Given the description of an element on the screen output the (x, y) to click on. 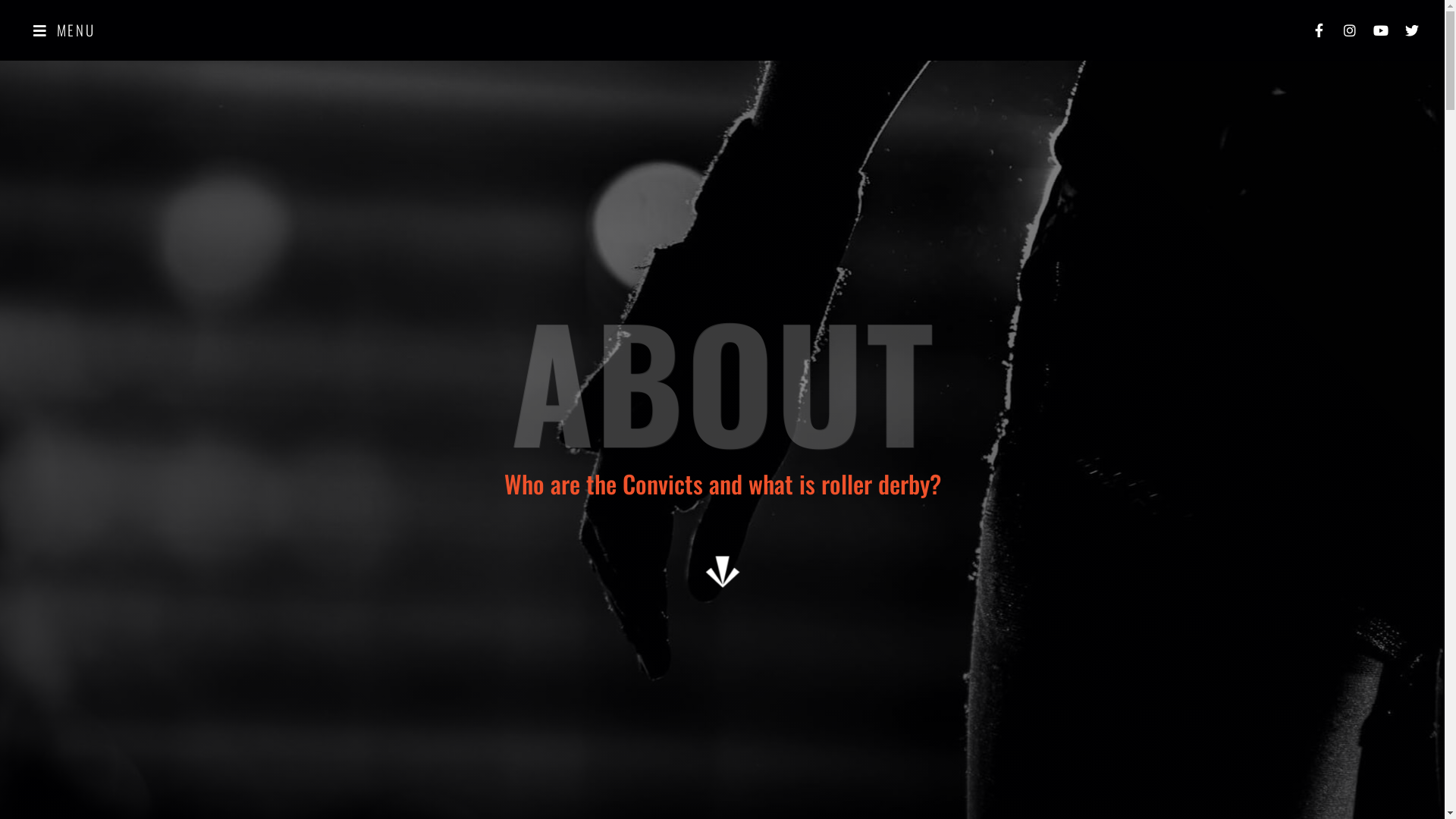
Youtube Element type: text (1380, 29)
MENU Element type: text (64, 30)
Instagram Element type: text (1349, 29)
Facebook Element type: text (1318, 29)
Twitter Element type: text (1411, 29)
